Given the description of an element on the screen output the (x, y) to click on. 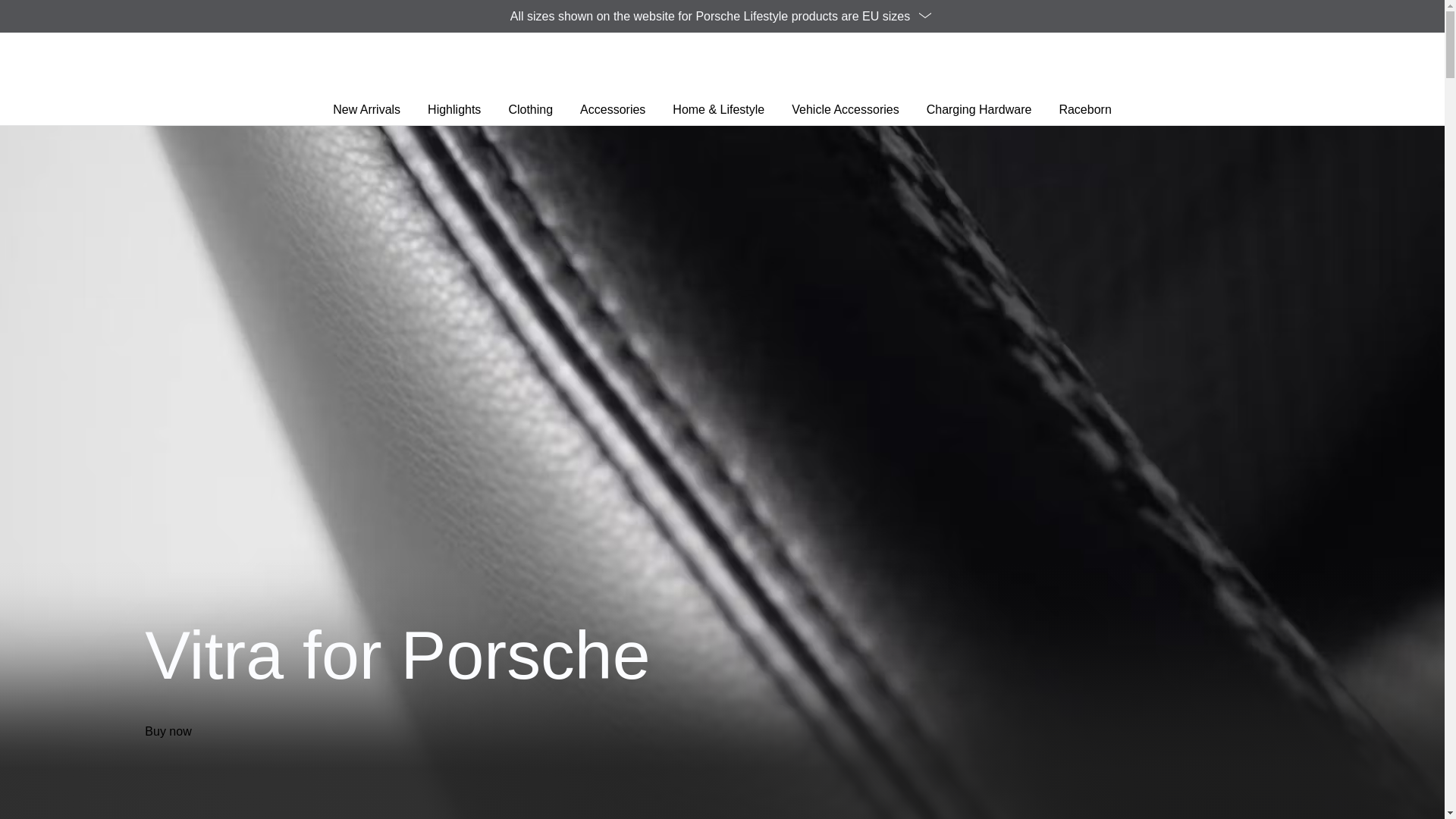
Clothing (530, 110)
New Arrivals (366, 110)
Highlights (453, 110)
Accessories (612, 110)
